Given the description of an element on the screen output the (x, y) to click on. 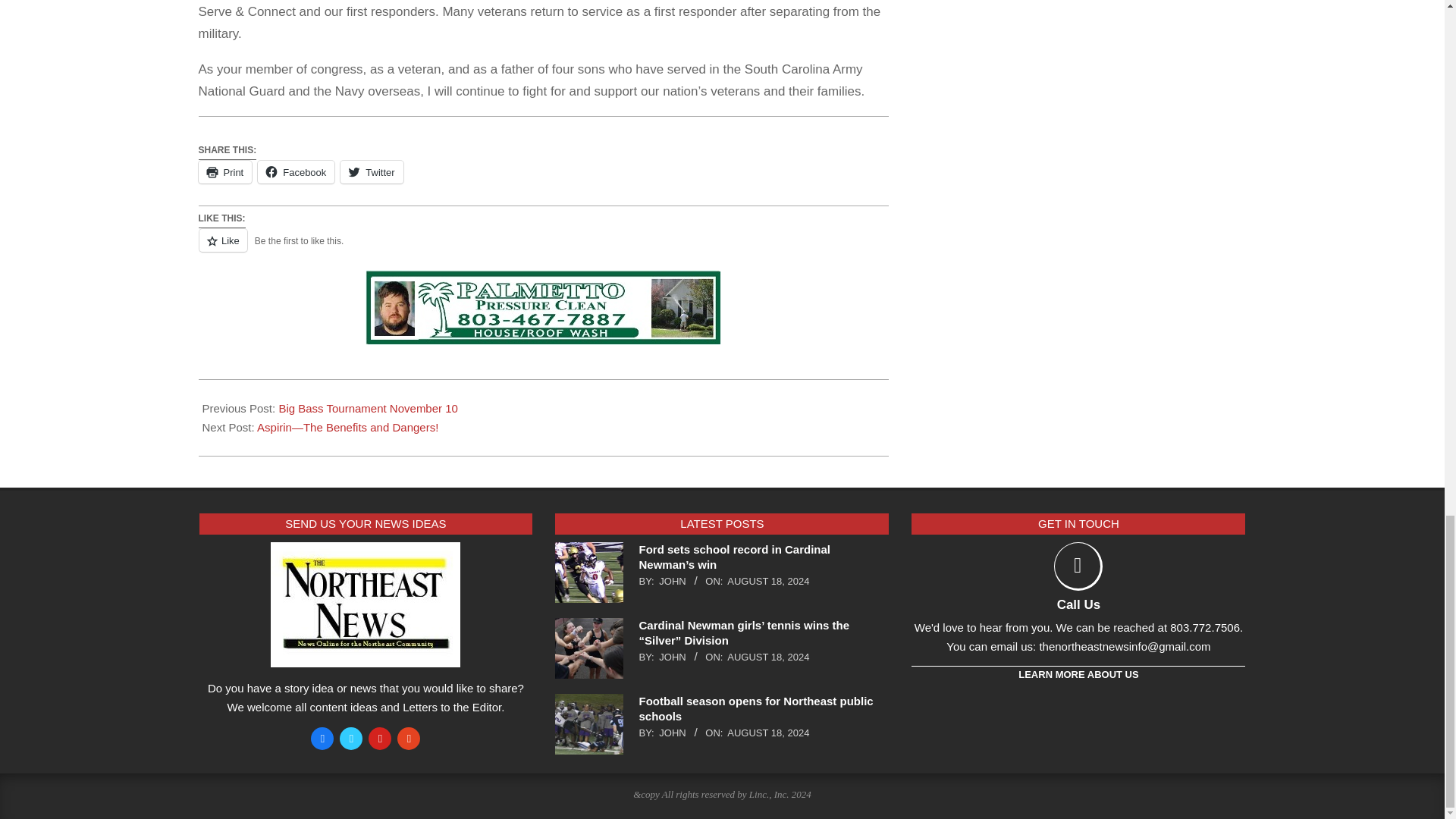
Click to share on Facebook (295, 171)
Sunday, August 18, 2024, 11:24 pm (767, 581)
Facebook (295, 171)
Posts by John (672, 732)
Click to print (224, 171)
Posts by John (672, 581)
Twitter (371, 171)
Sunday, August 18, 2024, 11:08 pm (767, 732)
Big Bass Tournament November 10 (368, 408)
Like or Reblog (543, 249)
